Given the description of an element on the screen output the (x, y) to click on. 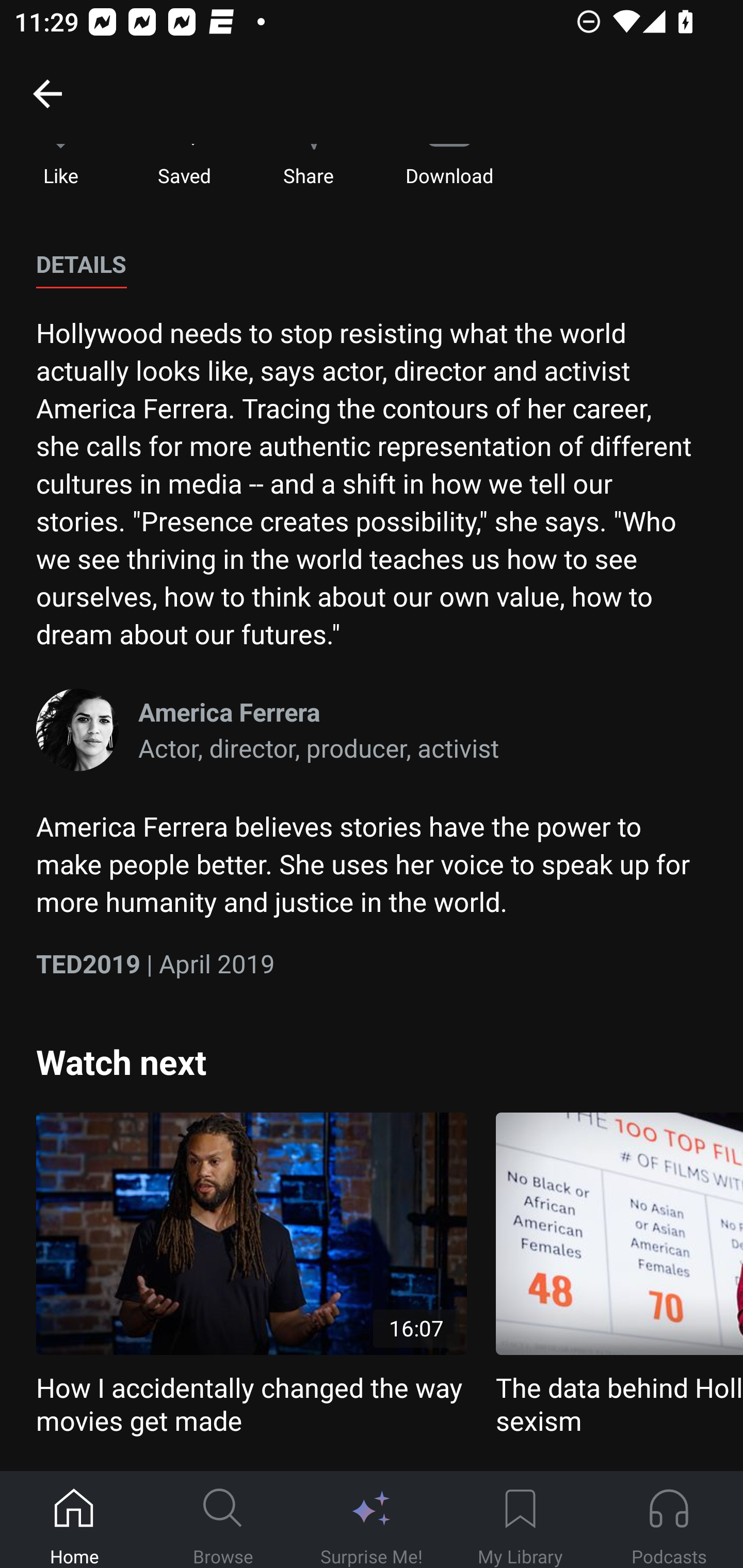
Home, back (47, 92)
Like (60, 166)
Saved (183, 166)
Share (308, 166)
Download (449, 166)
DETAILS (80, 264)
The data behind Hollywood's sexism (619, 1275)
Home (74, 1520)
Browse (222, 1520)
Surprise Me! (371, 1520)
My Library (519, 1520)
Podcasts (668, 1520)
